Given the description of an element on the screen output the (x, y) to click on. 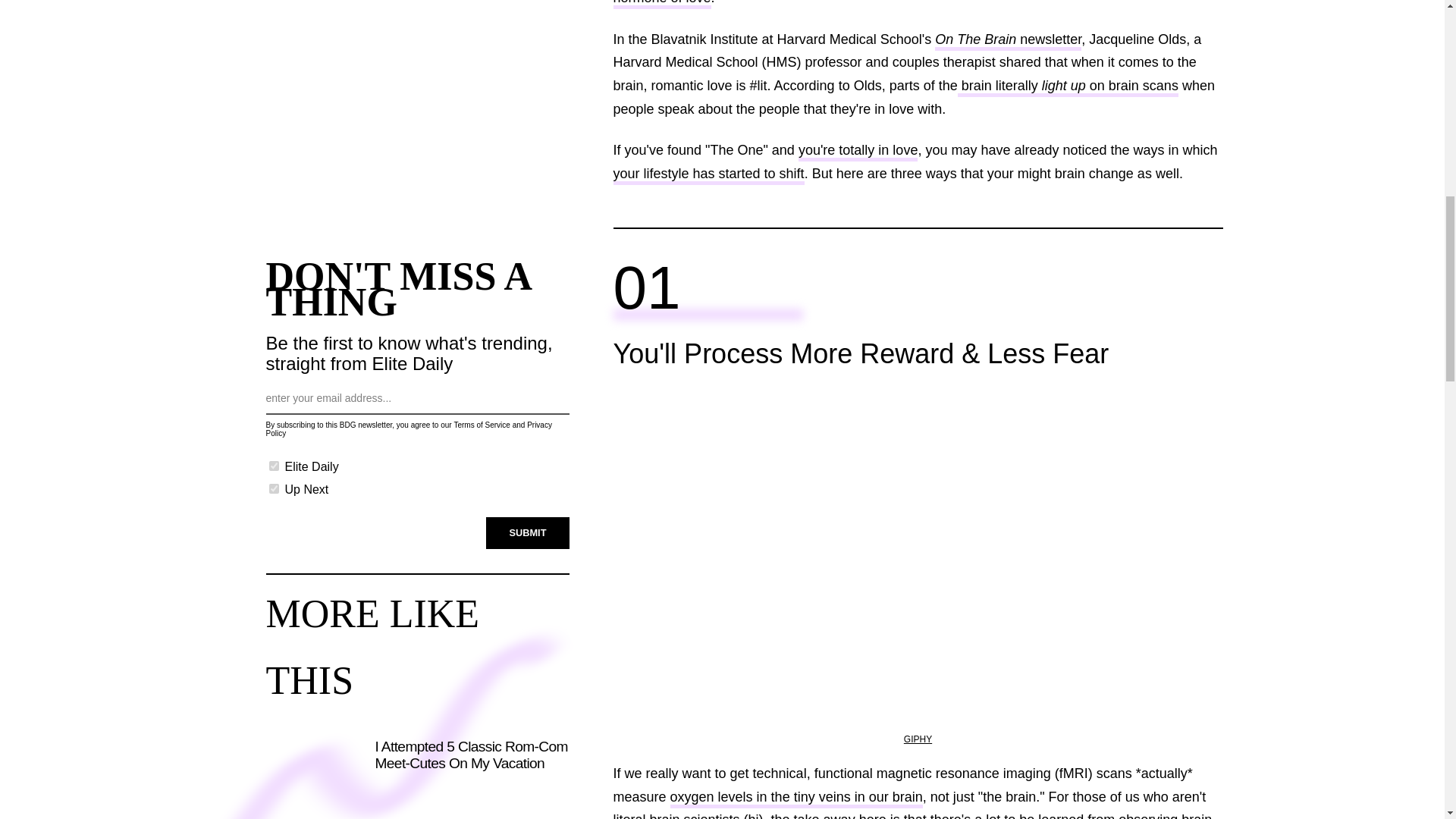
SUBMIT (527, 532)
oxygen levels in the tiny veins in our brain (796, 798)
brain literally light up on brain scans (1067, 87)
Privacy Policy (407, 428)
On The Brain newsletter (1007, 40)
Terms of Service (480, 424)
your lifestyle has started to shift (707, 175)
the hormone of love (892, 4)
GIPHY (917, 738)
